Given the description of an element on the screen output the (x, y) to click on. 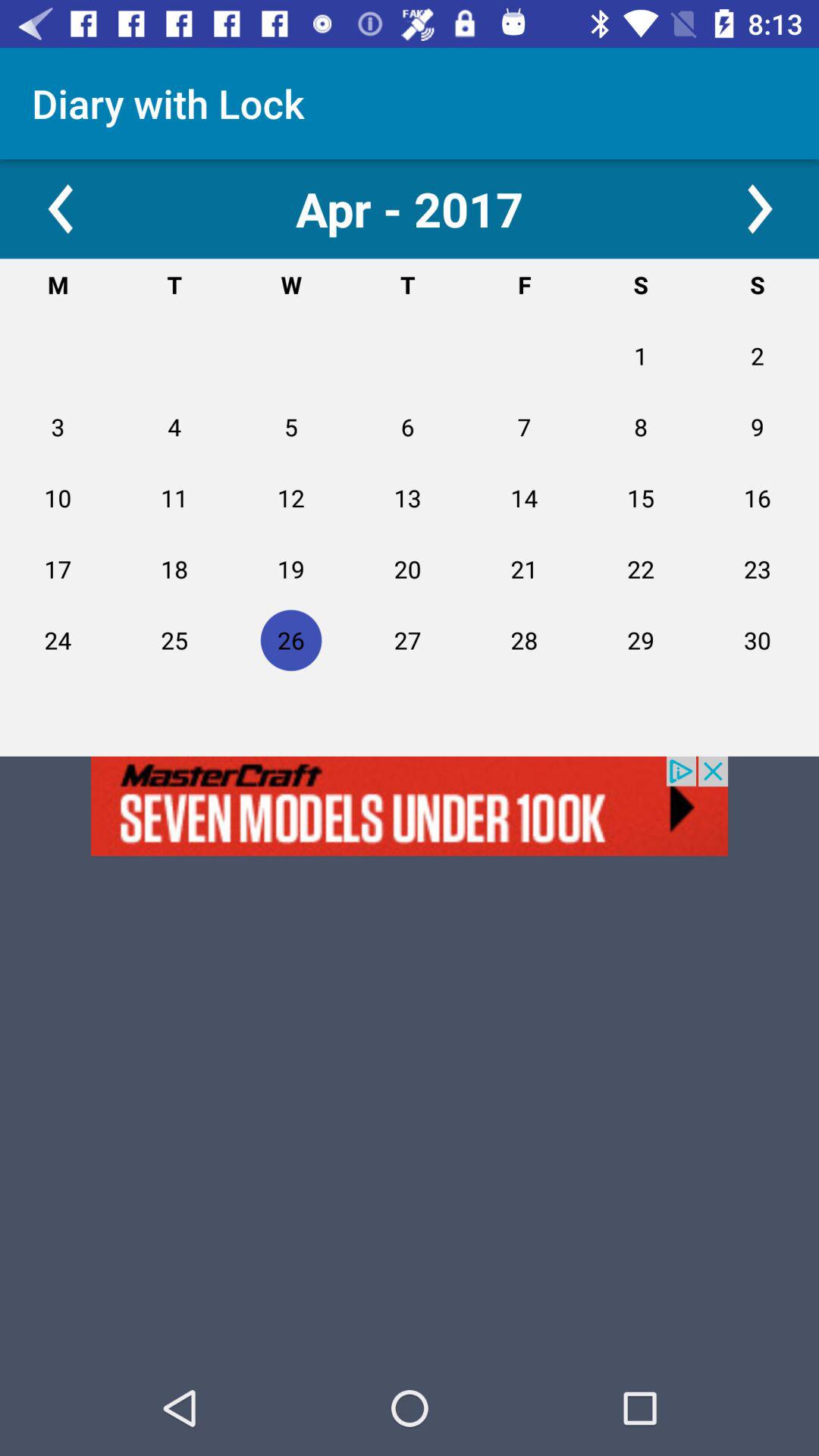
next month (759, 208)
